Given the description of an element on the screen output the (x, y) to click on. 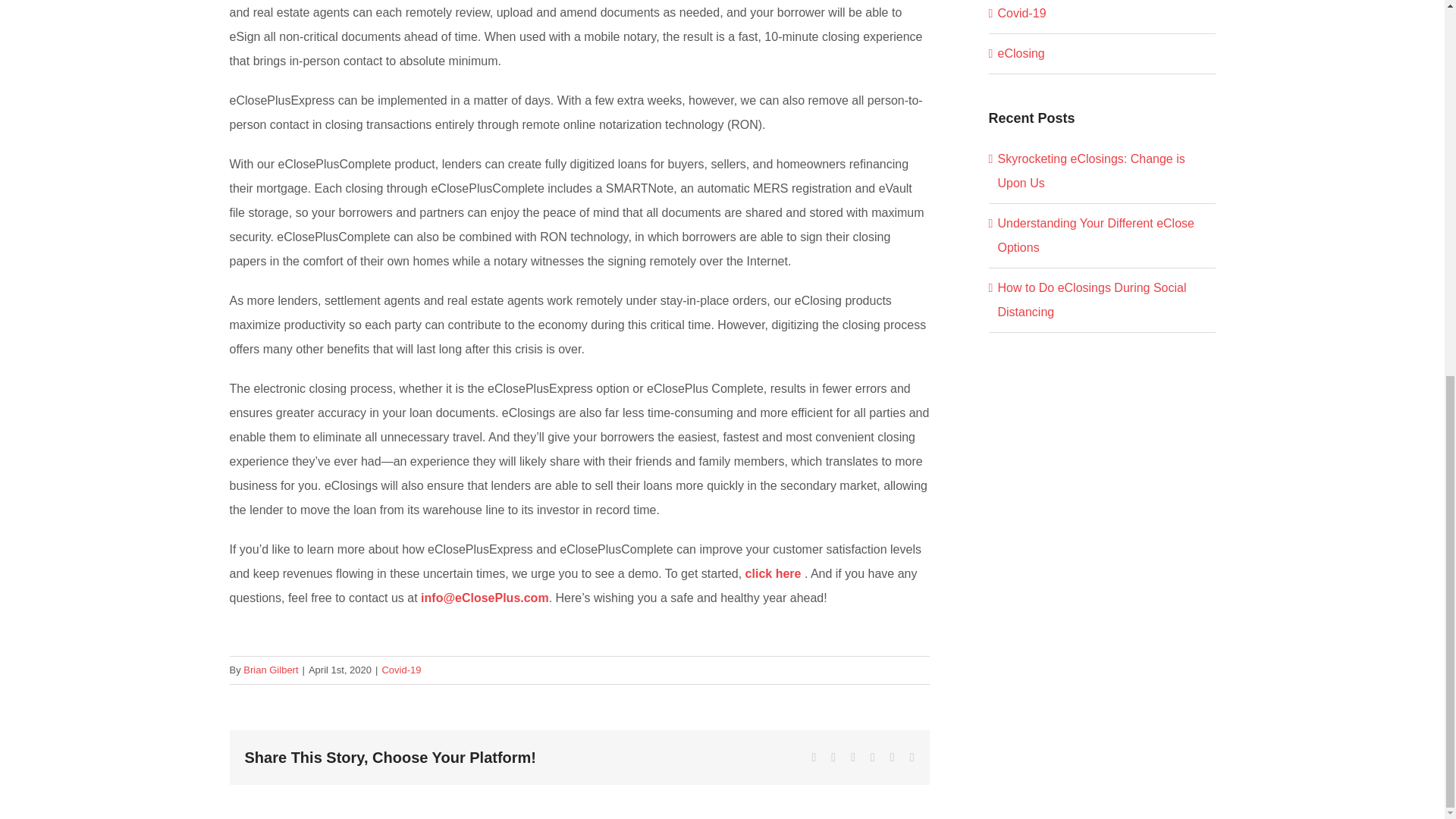
Posts by Brian Gilbert (270, 669)
How to Do eClosings During Social Distancing (1091, 299)
click here (773, 573)
Covid-19 (1102, 13)
Brian Gilbert (270, 669)
Covid-19 (400, 669)
Understanding Your Different eClose Options (1095, 235)
Skyrocketing eClosings: Change is Upon Us (1091, 170)
eClosing (1102, 53)
